Given the description of an element on the screen output the (x, y) to click on. 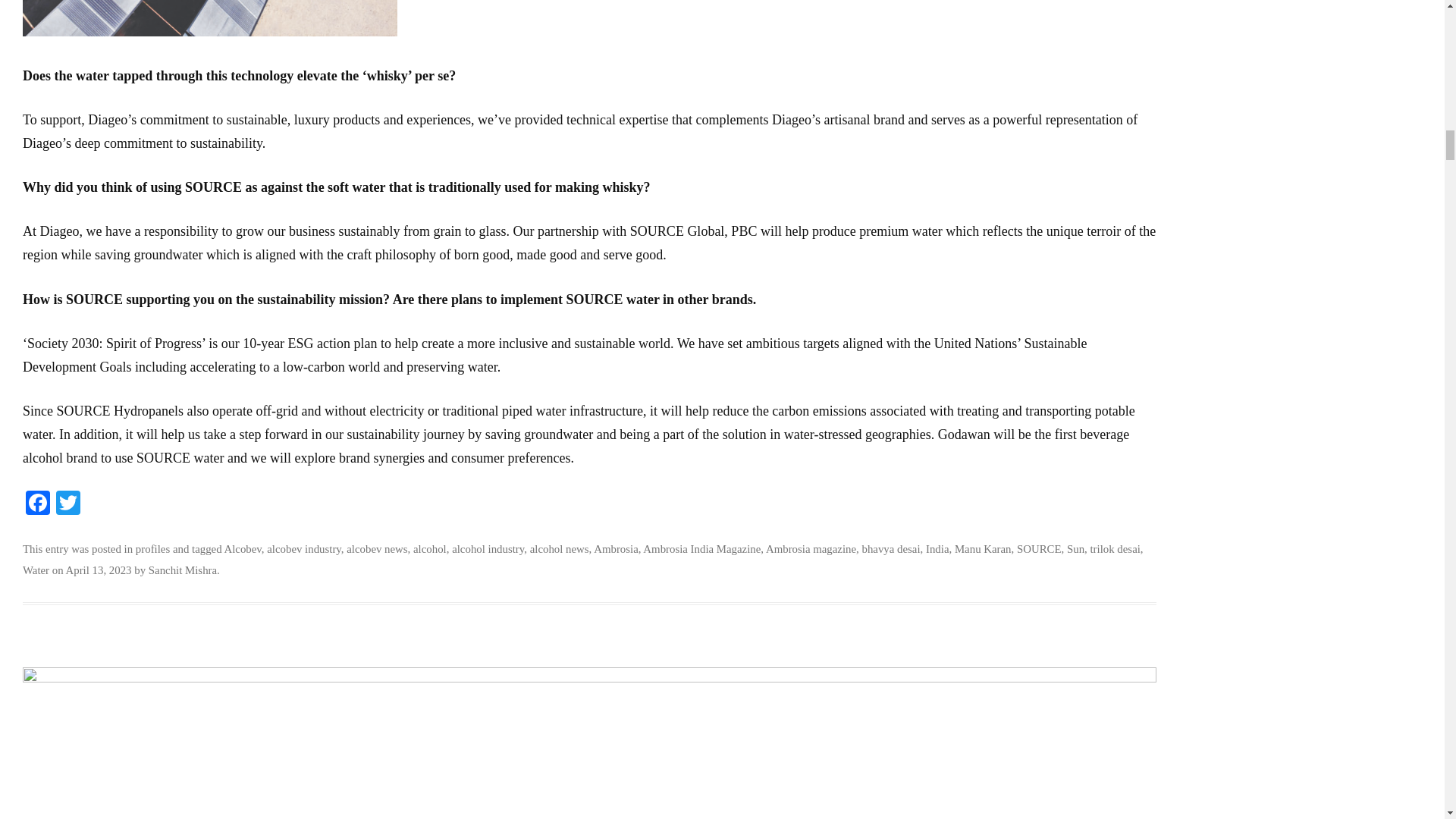
Facebook (37, 504)
Alcobev (243, 548)
profiles (152, 548)
Facebook (37, 504)
Twitter (67, 504)
View all posts by Sanchit Mishra (182, 570)
Twitter (67, 504)
1:37 pm (98, 570)
